Given the description of an element on the screen output the (x, y) to click on. 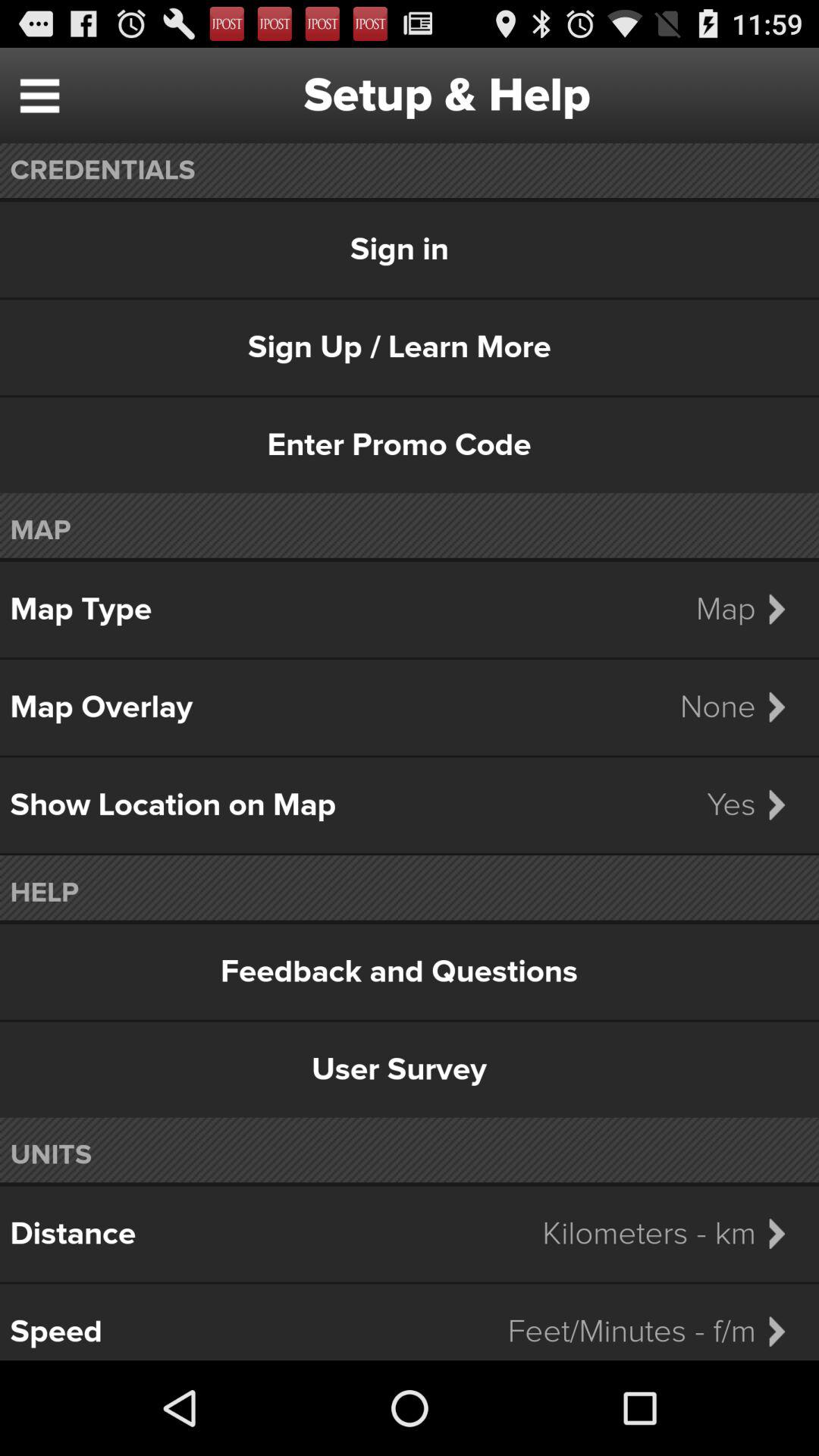
click the sign in (409, 249)
